Given the description of an element on the screen output the (x, y) to click on. 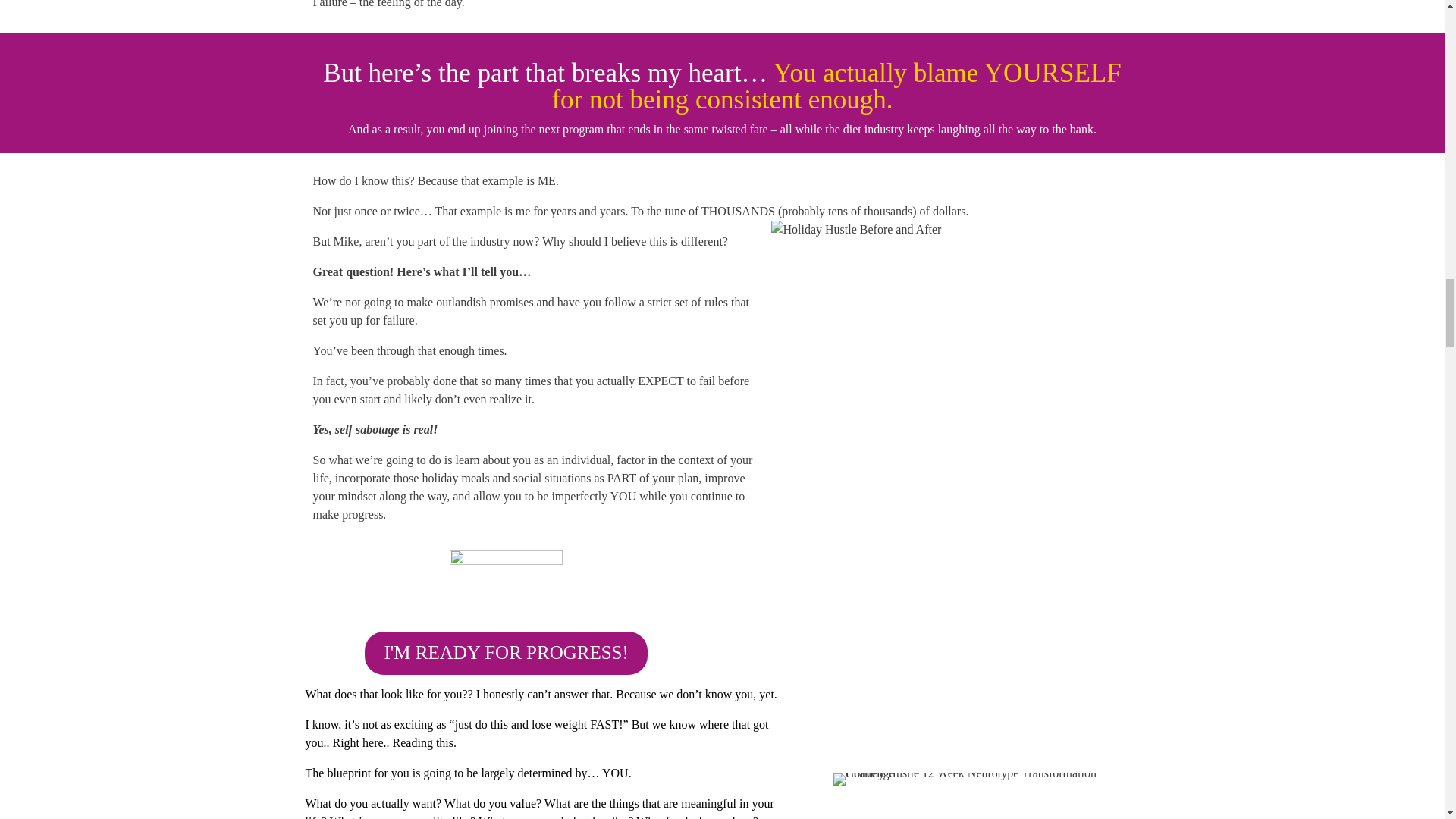
I'M READY FOR PROGRESS! (505, 653)
